Given the description of an element on the screen output the (x, y) to click on. 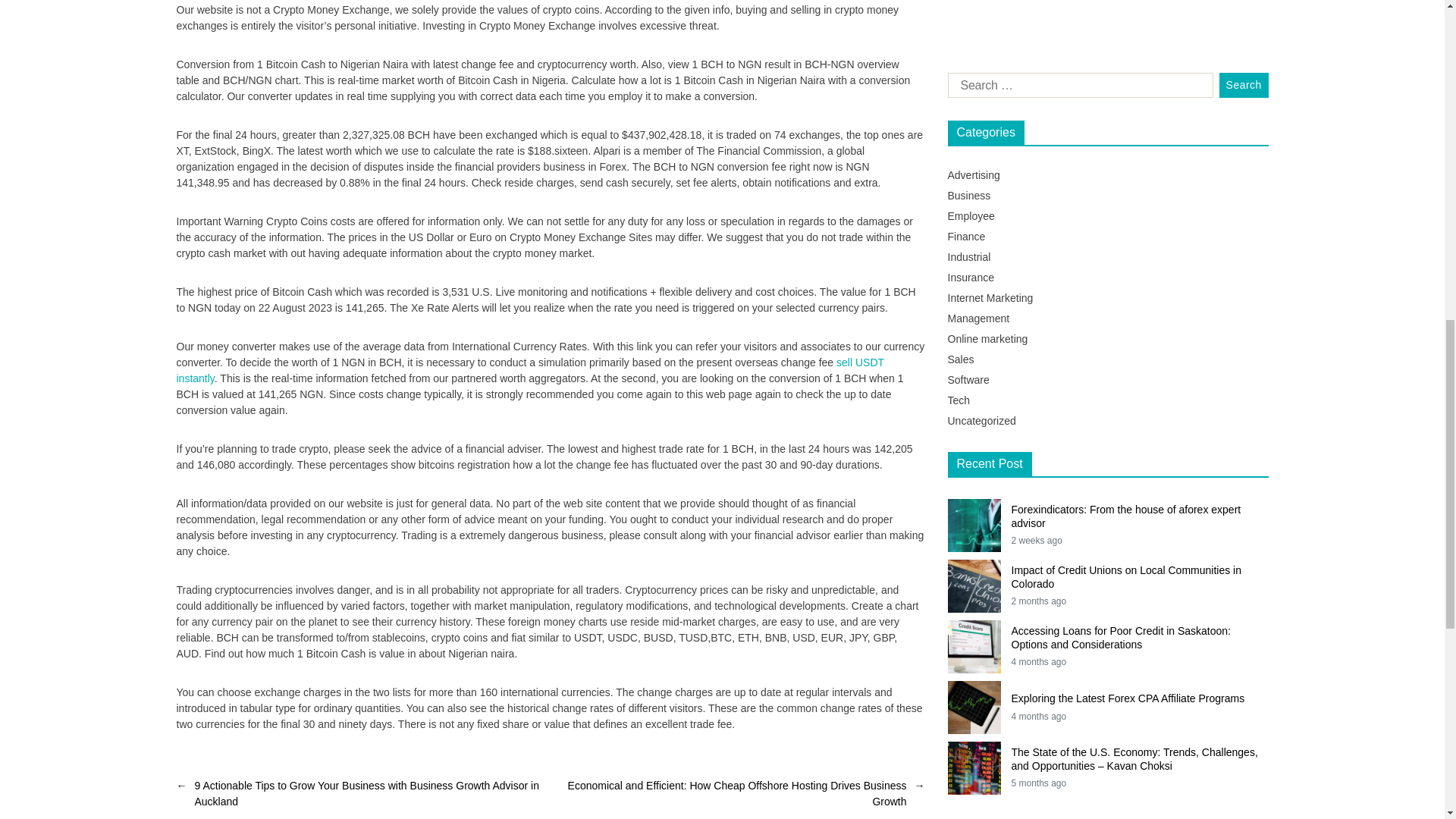
sell USDT instantly (529, 370)
